Given the description of an element on the screen output the (x, y) to click on. 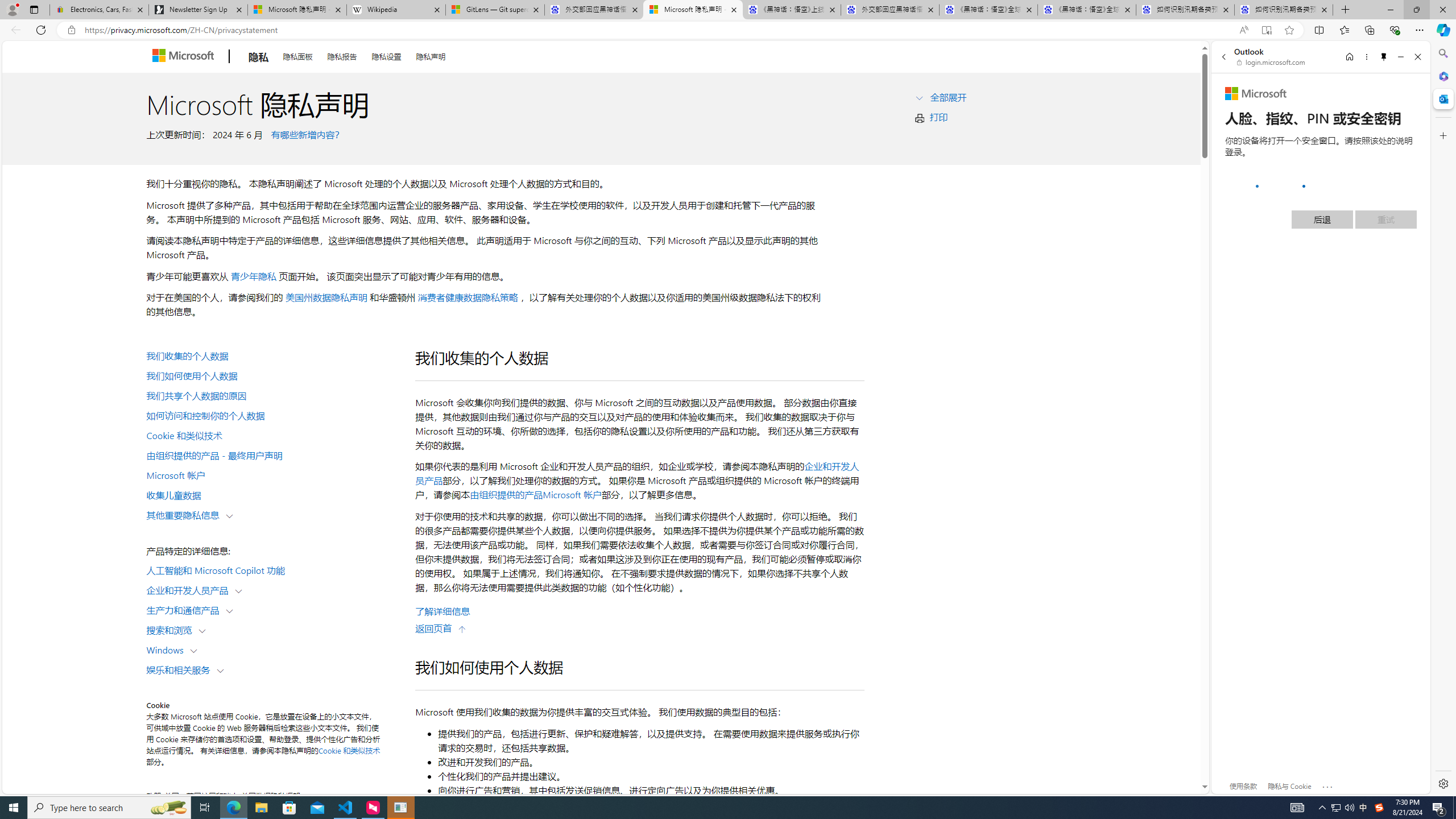
Wikipedia (395, 9)
